Given the description of an element on the screen output the (x, y) to click on. 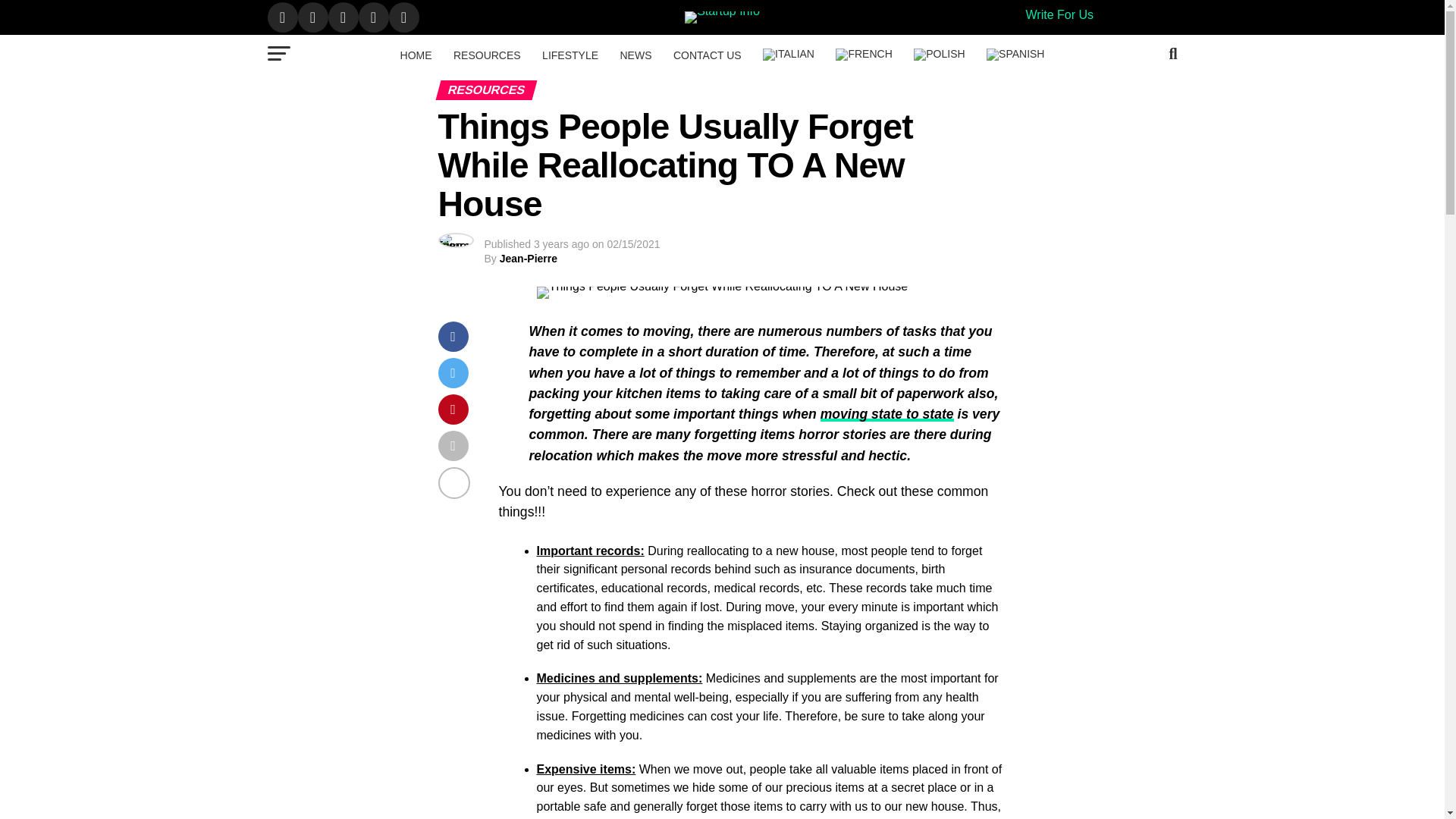
LIFESTYLE (569, 55)
RESOURCES (486, 55)
NEWS (635, 55)
Write For Us (1059, 14)
HOME (416, 55)
